Given the description of an element on the screen output the (x, y) to click on. 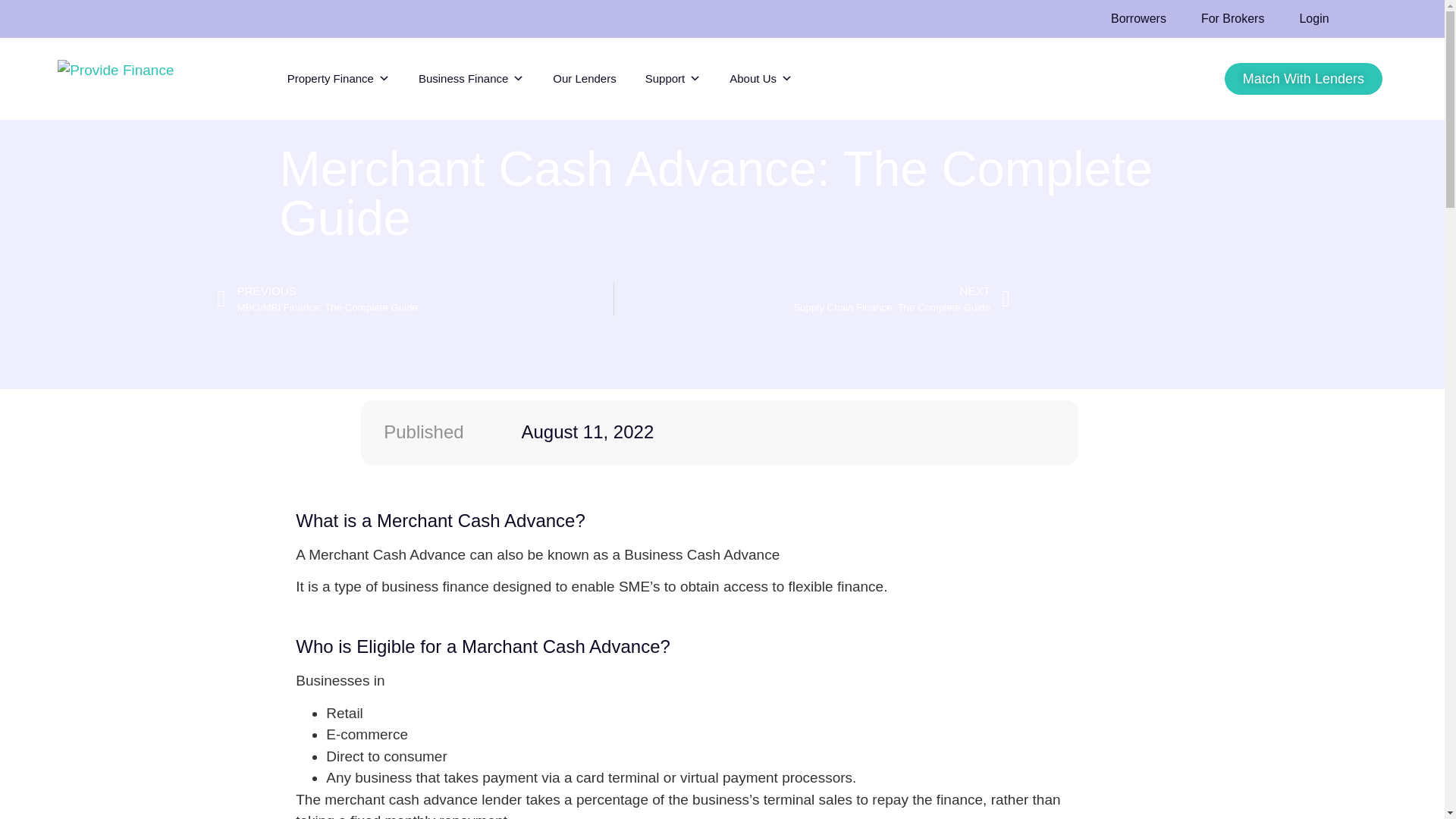
Property Finance (338, 78)
Business Finance (470, 78)
For Brokers (1233, 18)
Borrowers (1138, 18)
